Given the description of an element on the screen output the (x, y) to click on. 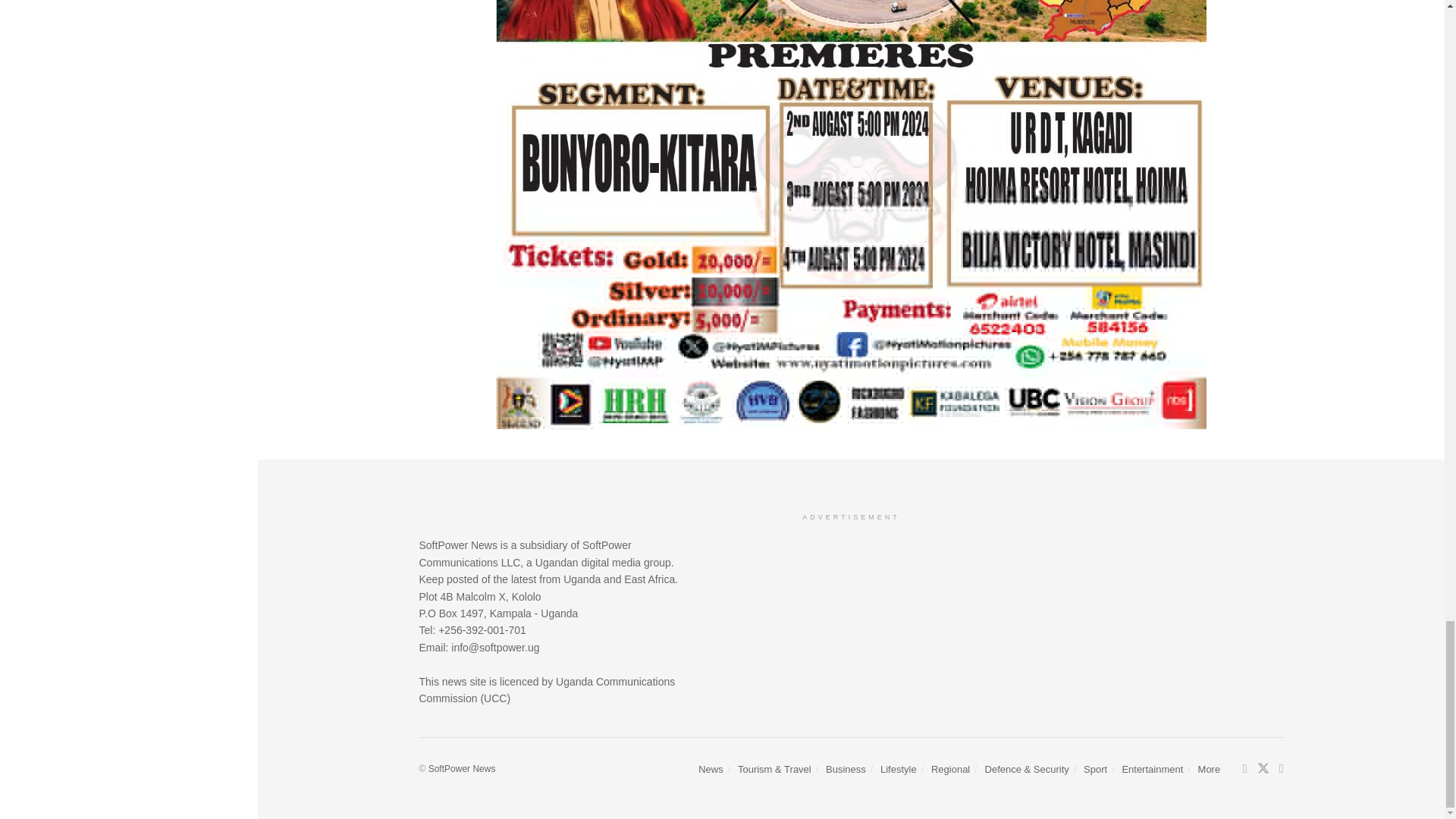
SoftPower News (462, 768)
